Given the description of an element on the screen output the (x, y) to click on. 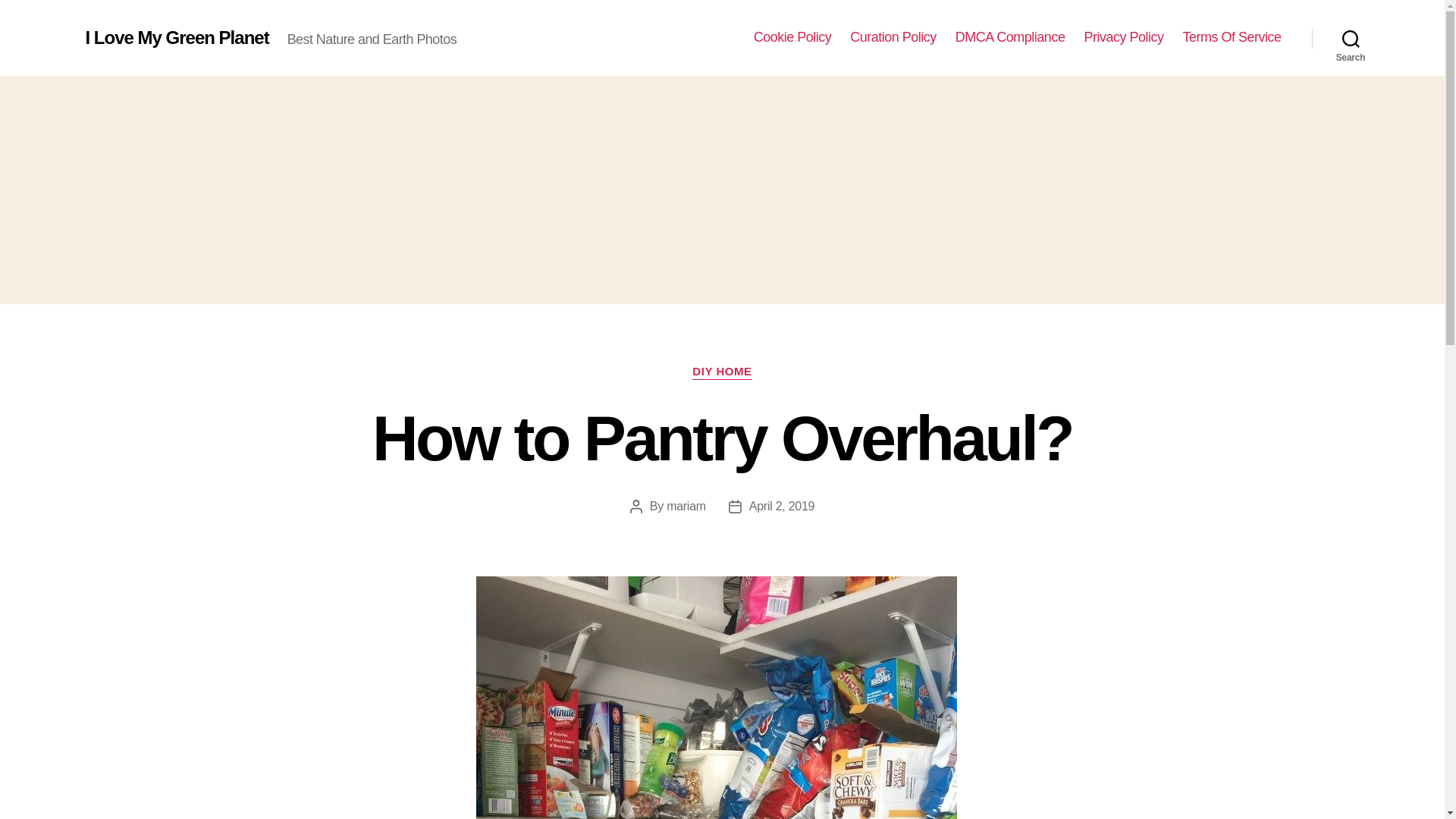
DMCA Compliance (1010, 37)
Terms Of Service (1231, 37)
Curation Policy (893, 37)
mariam (686, 505)
Privacy Policy (1123, 37)
Cookie Policy (792, 37)
Advertisement (721, 187)
Search (1350, 37)
April 2, 2019 (781, 505)
DIY HOME (722, 372)
